Given the description of an element on the screen output the (x, y) to click on. 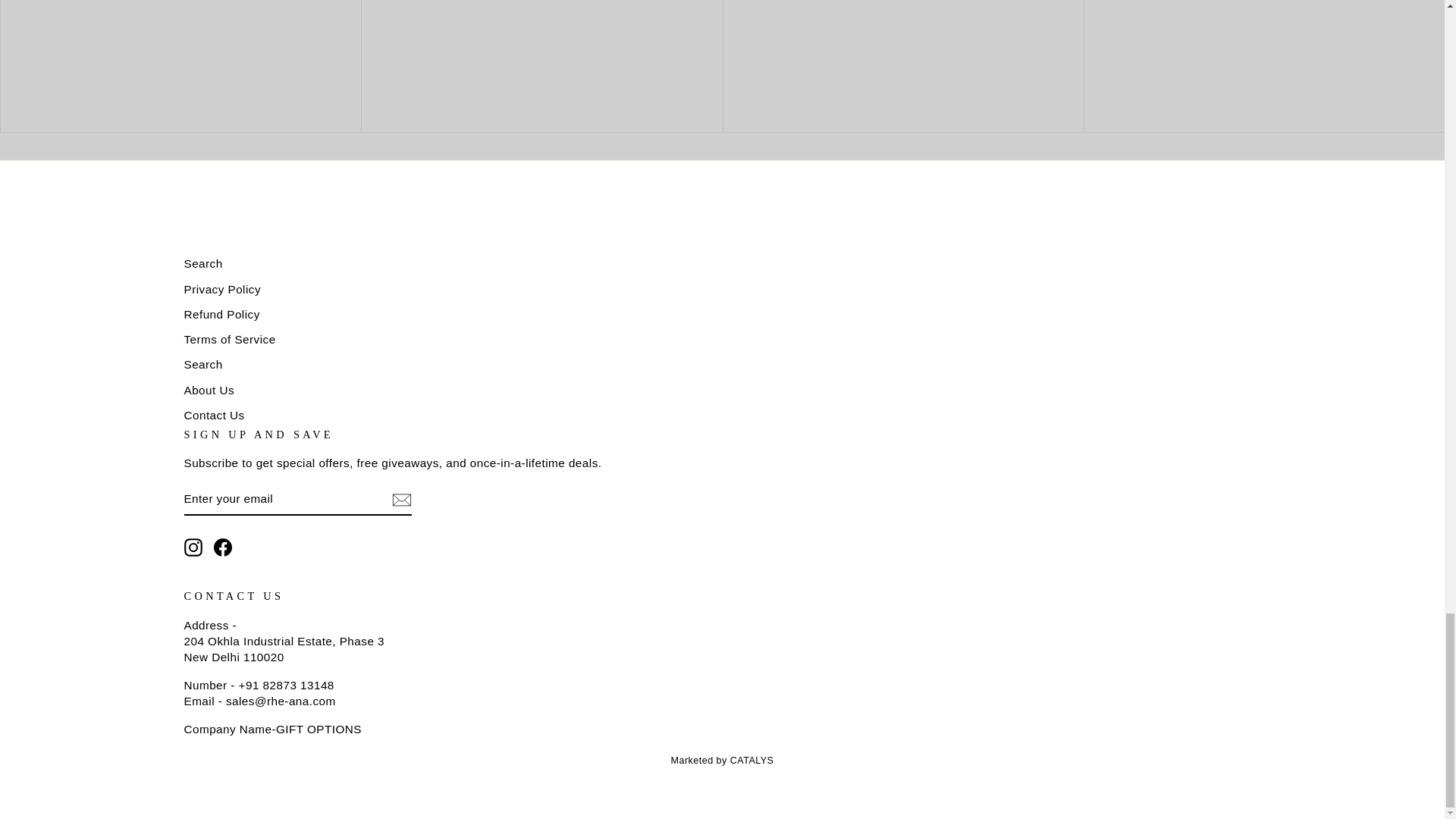
Rhe-Ana on Instagram (192, 547)
instagram (192, 547)
icon-email (400, 499)
Rhe-Ana on Facebook (222, 547)
